Given the description of an element on the screen output the (x, y) to click on. 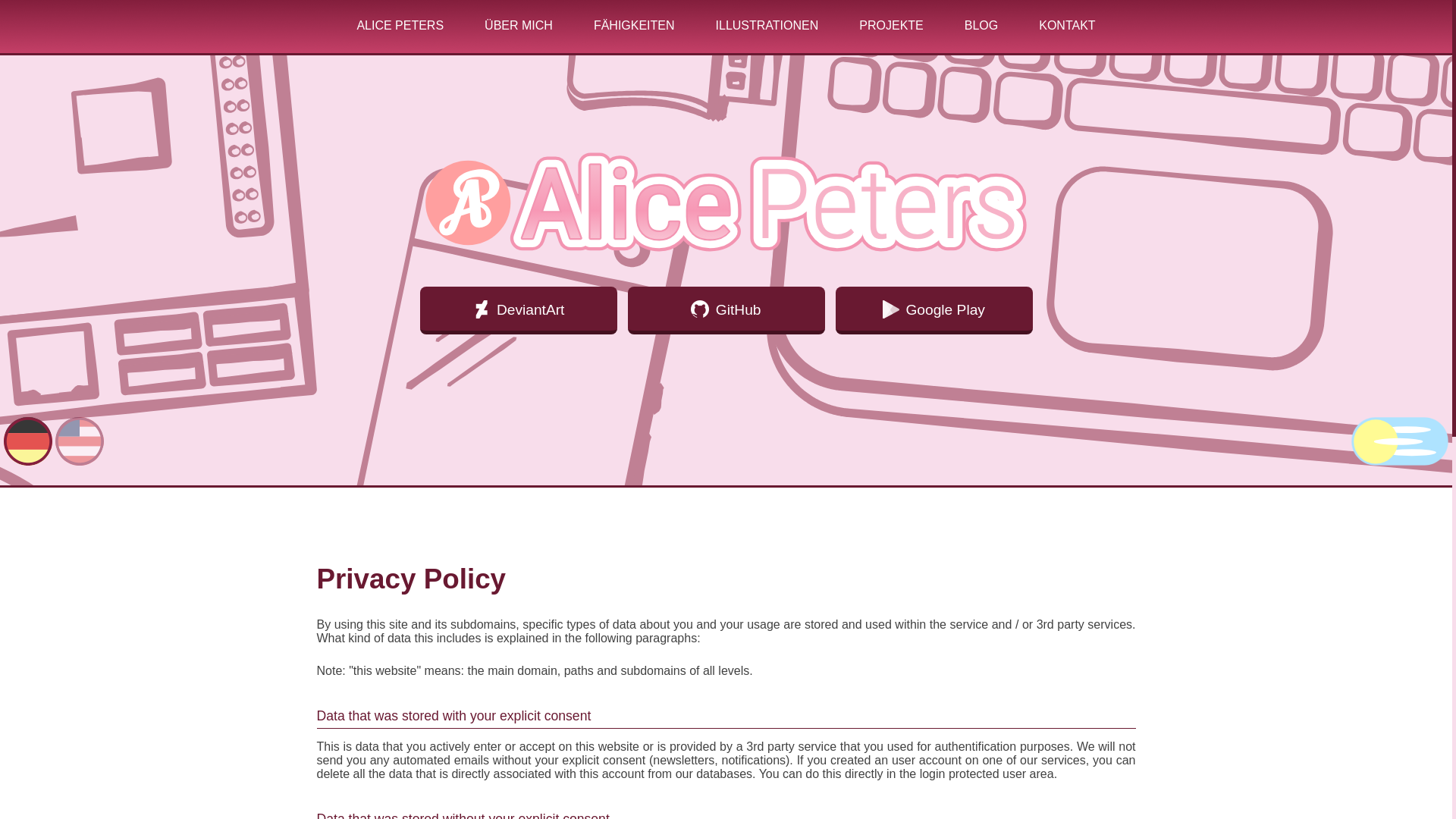
KONTAKT (1066, 25)
PROJEKTE (890, 25)
BLOG (981, 25)
English (79, 461)
ILLUSTRATIONEN (767, 25)
ALICE PETERS (399, 25)
German (28, 461)
